Given the description of an element on the screen output the (x, y) to click on. 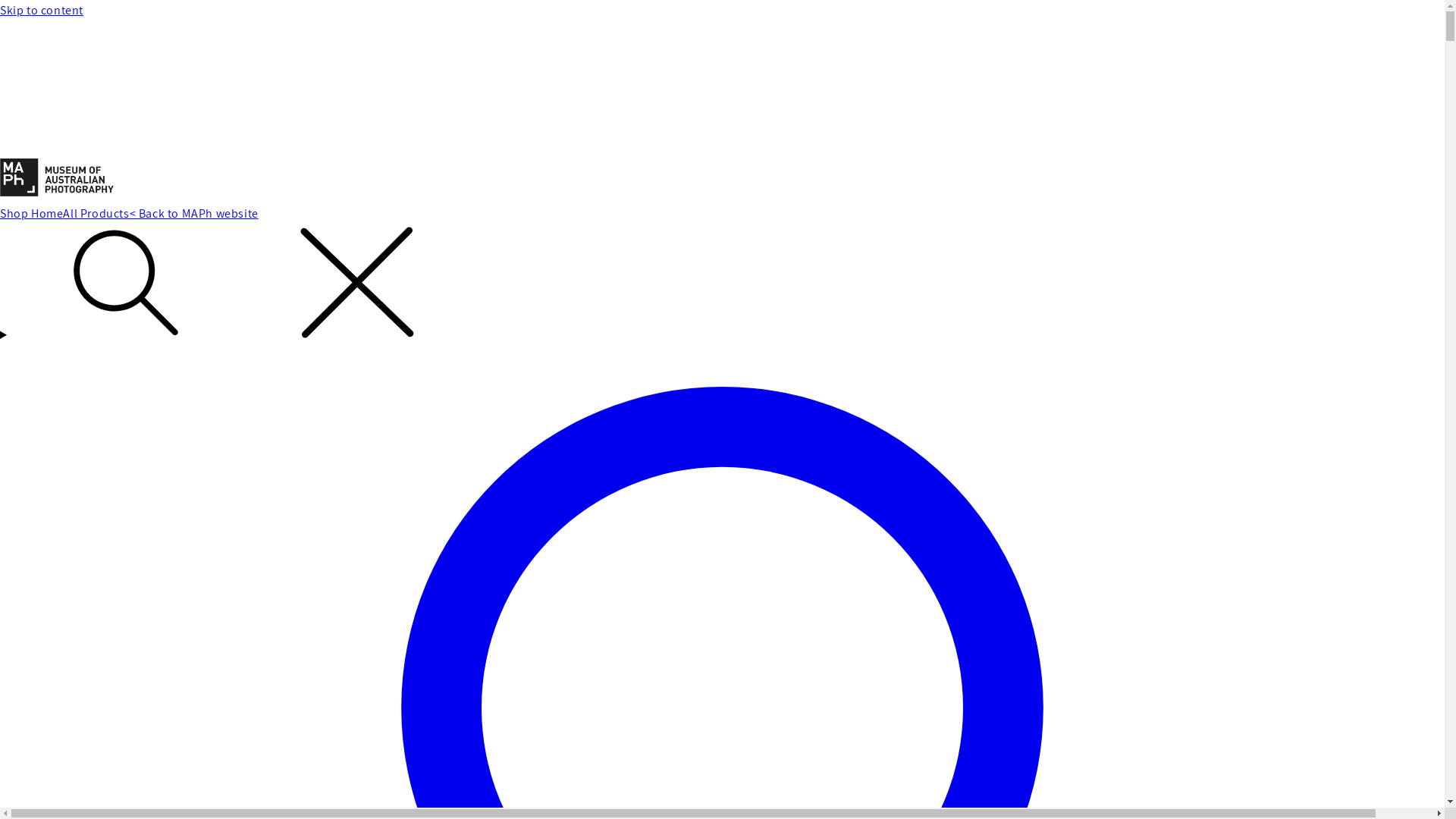
Shop Home Element type: text (31, 214)
Skip to content Element type: text (722, 10)
< Back to MAPh website Element type: text (193, 214)
All Products Element type: text (95, 214)
